Given the description of an element on the screen output the (x, y) to click on. 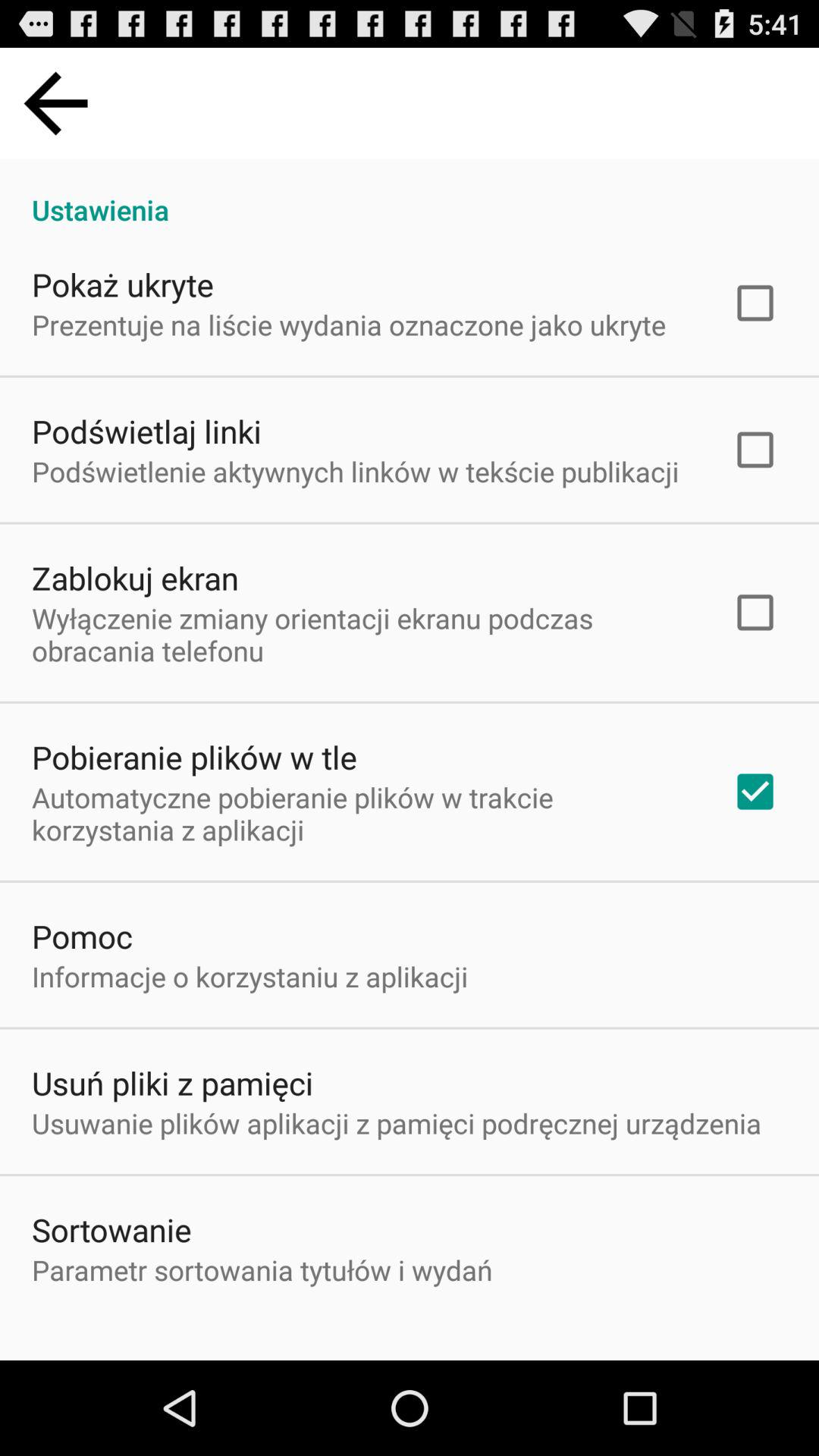
swipe until the pomoc (81, 935)
